Given the description of an element on the screen output the (x, y) to click on. 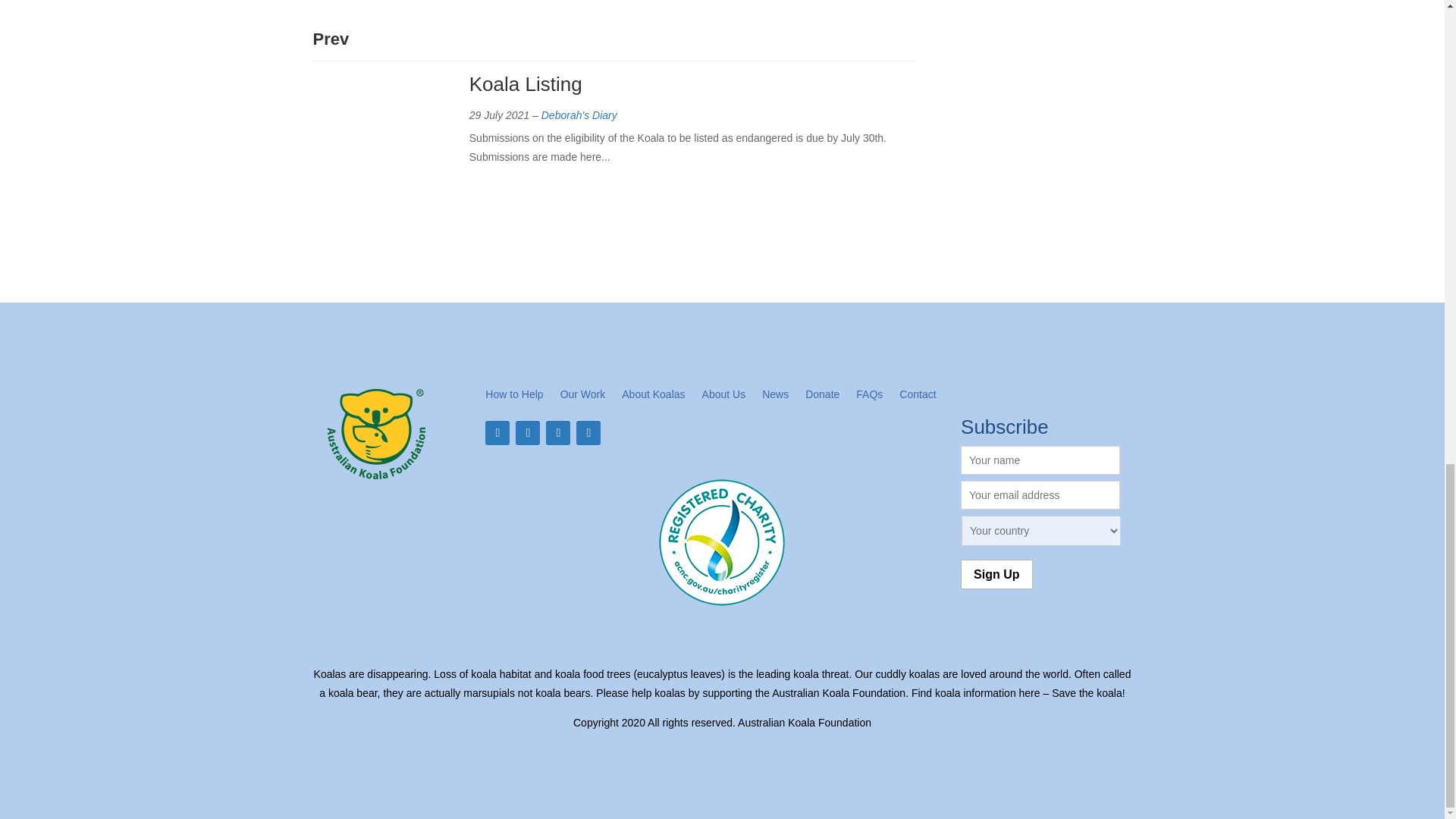
Follow on Youtube (587, 432)
Follow on Facebook (496, 432)
Follow on Instagram (558, 432)
Follow on Twitter (527, 432)
